Given the description of an element on the screen output the (x, y) to click on. 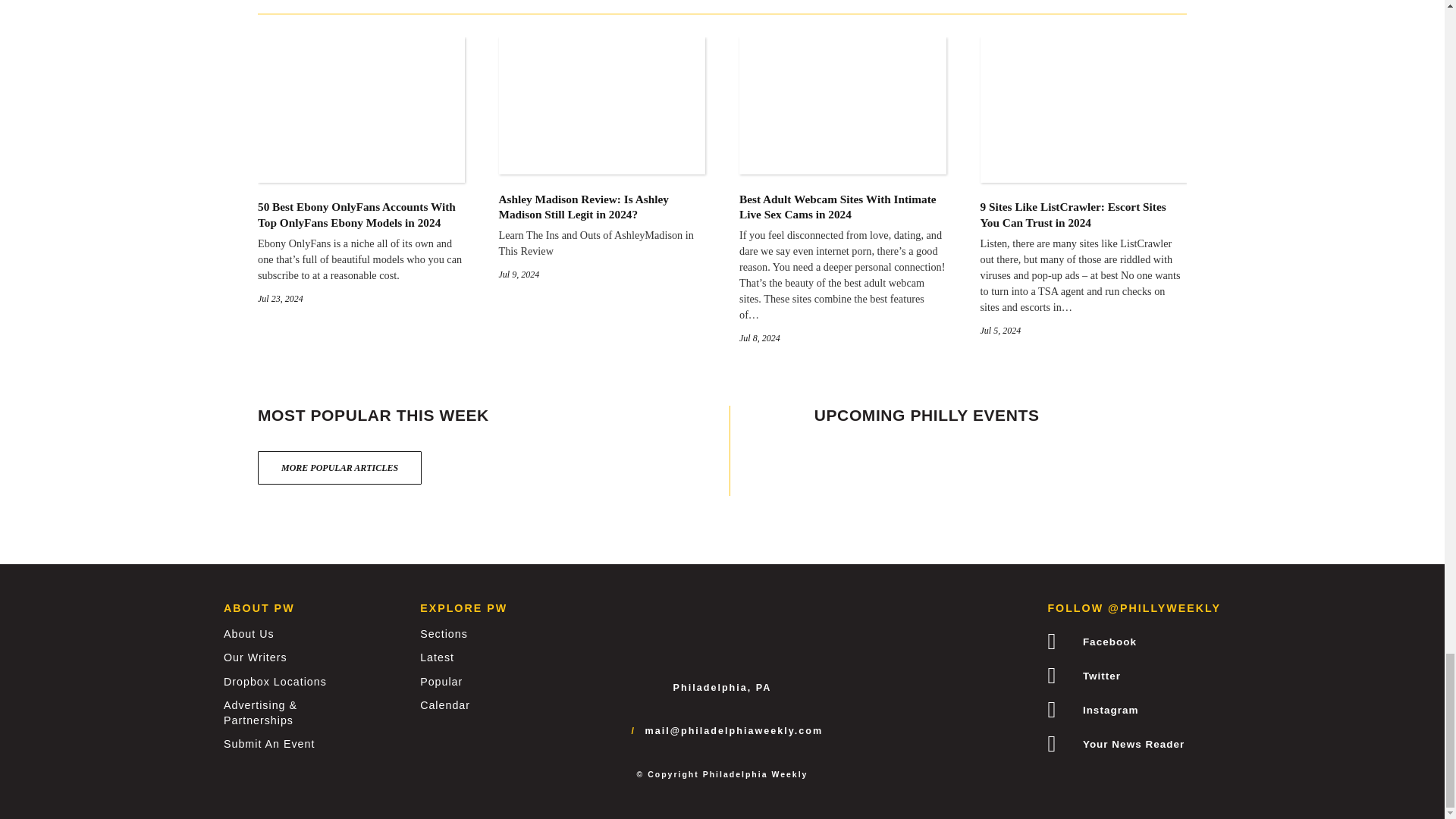
Best Adult Webcam Sites With Intimate Live Sex Cams in 2024 (842, 163)
